Given the description of an element on the screen output the (x, y) to click on. 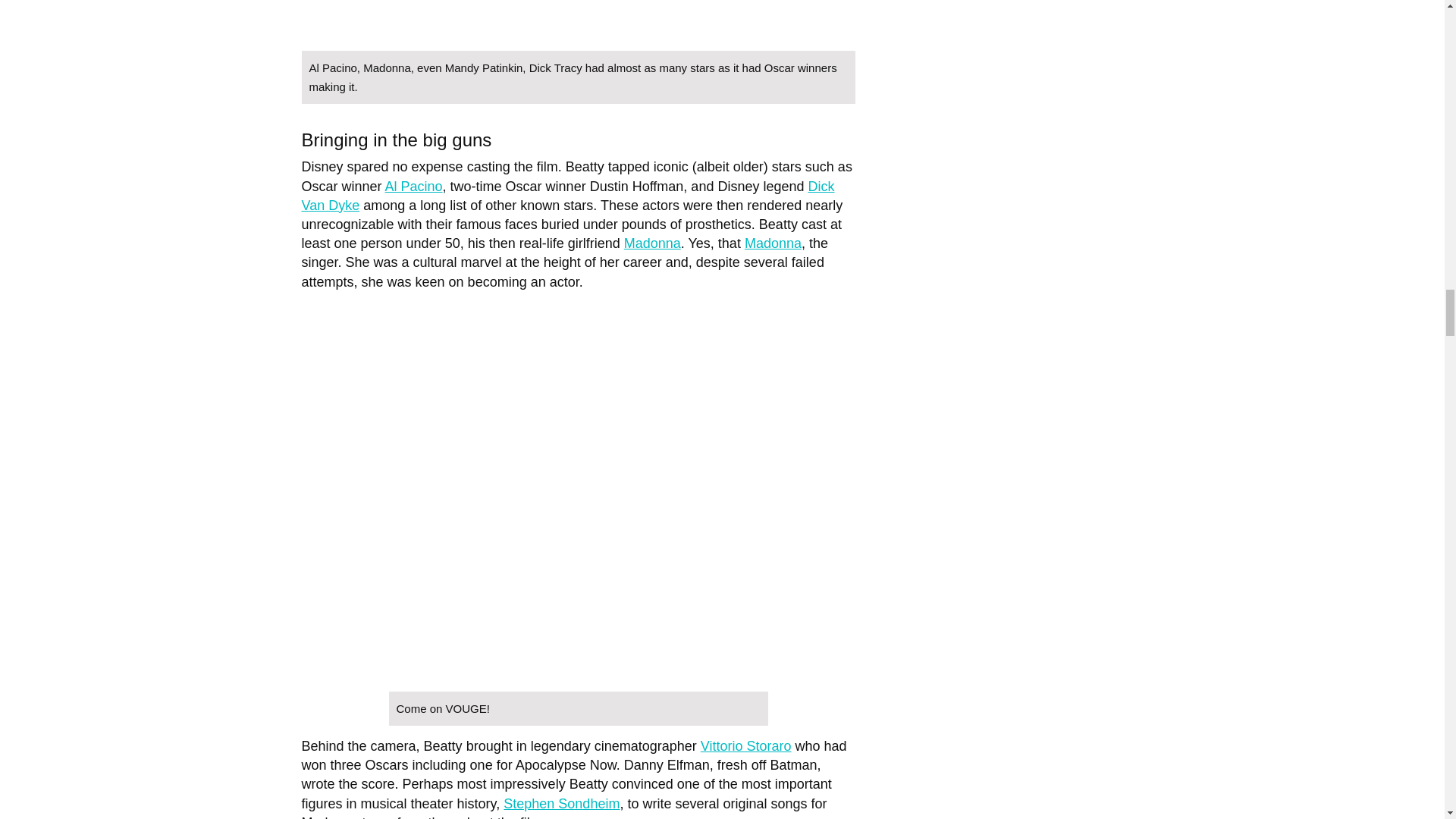
Madonna (652, 242)
Dick Van Dyke (567, 195)
Madonna (773, 242)
Al Pacino (413, 186)
Vittorio Storaro (746, 745)
